Given the description of an element on the screen output the (x, y) to click on. 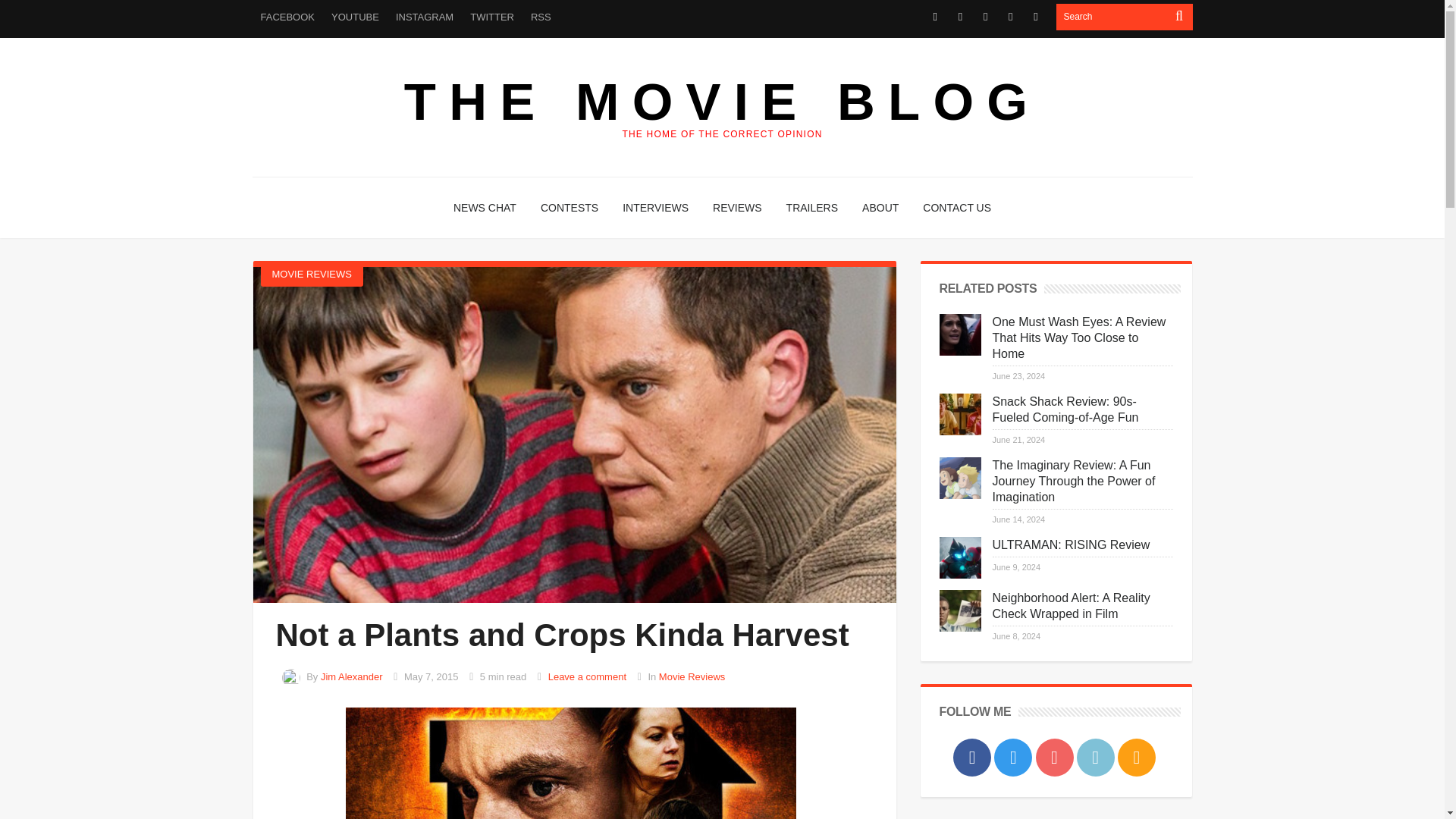
Reddit (1010, 16)
Search (1111, 17)
TWITTER (491, 17)
NEWS CHAT (484, 207)
THE MOVIE BLOG (722, 101)
INSTAGRAM (424, 17)
CONTESTS (568, 207)
Search (1111, 17)
FACEBOOK (287, 17)
Youtube (984, 16)
RSS (540, 17)
YOUTUBE (355, 17)
Rss (1035, 16)
Facebook (935, 16)
Twitter (960, 16)
